Given the description of an element on the screen output the (x, y) to click on. 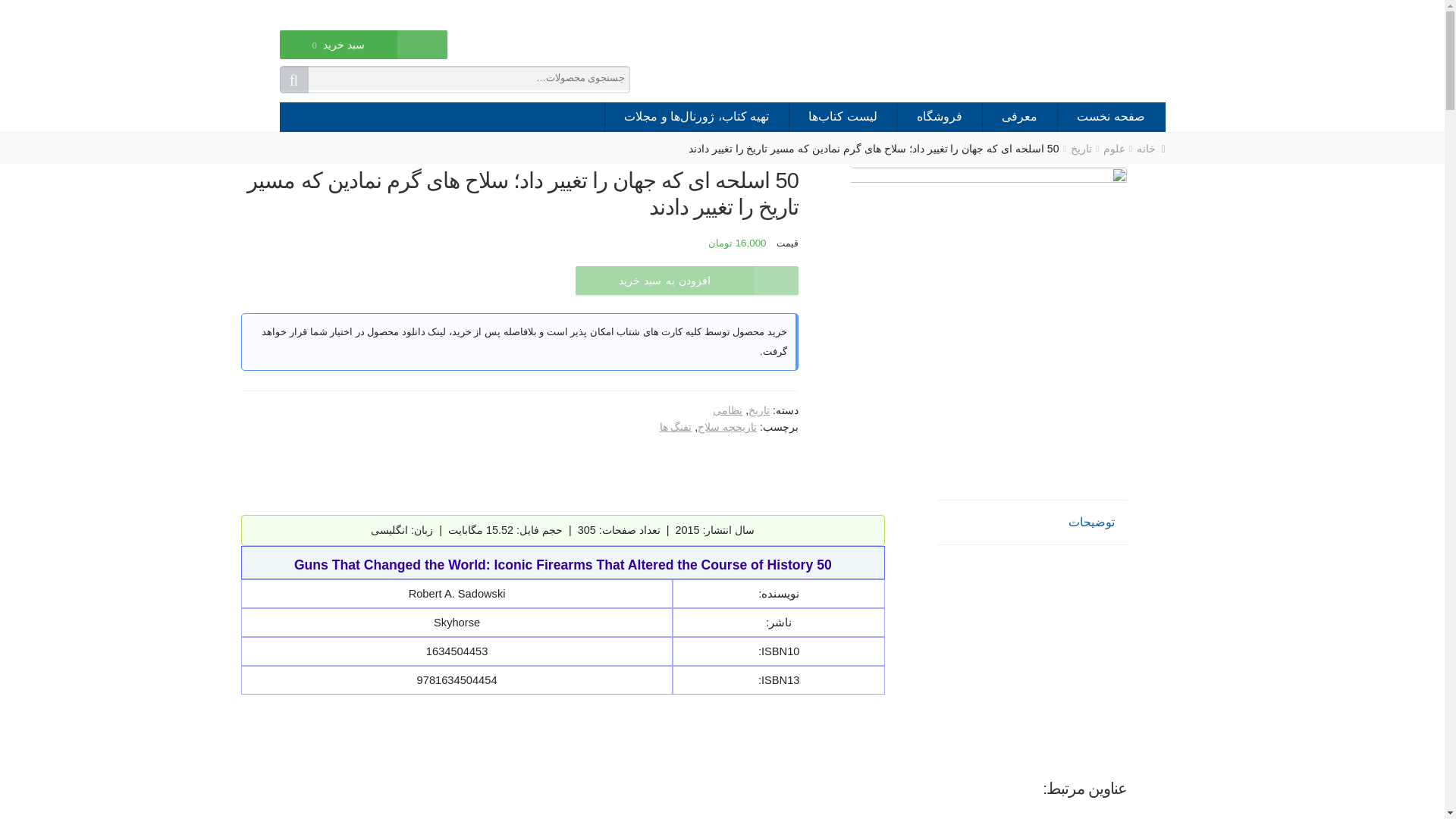
View your shopping cart (339, 54)
